Given the description of an element on the screen output the (x, y) to click on. 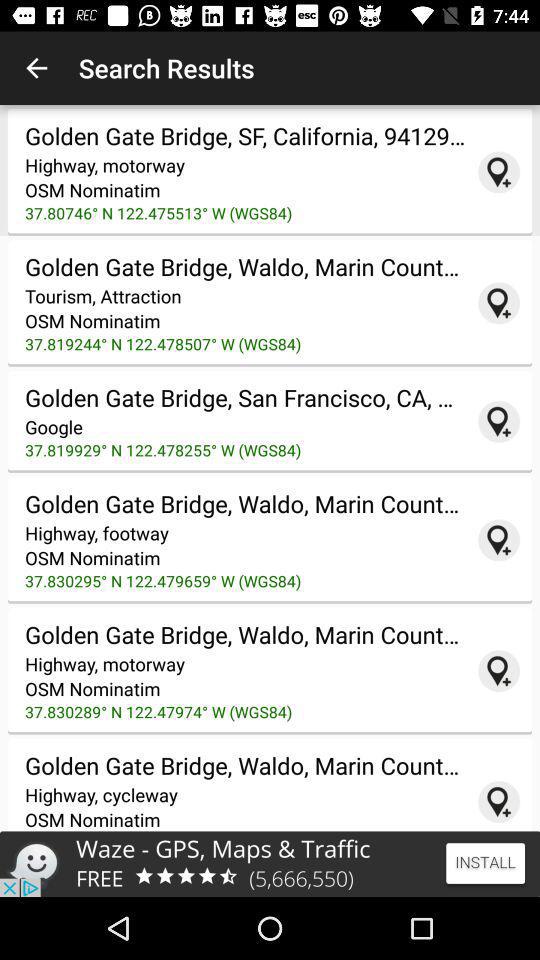
save location (499, 802)
